Given the description of an element on the screen output the (x, y) to click on. 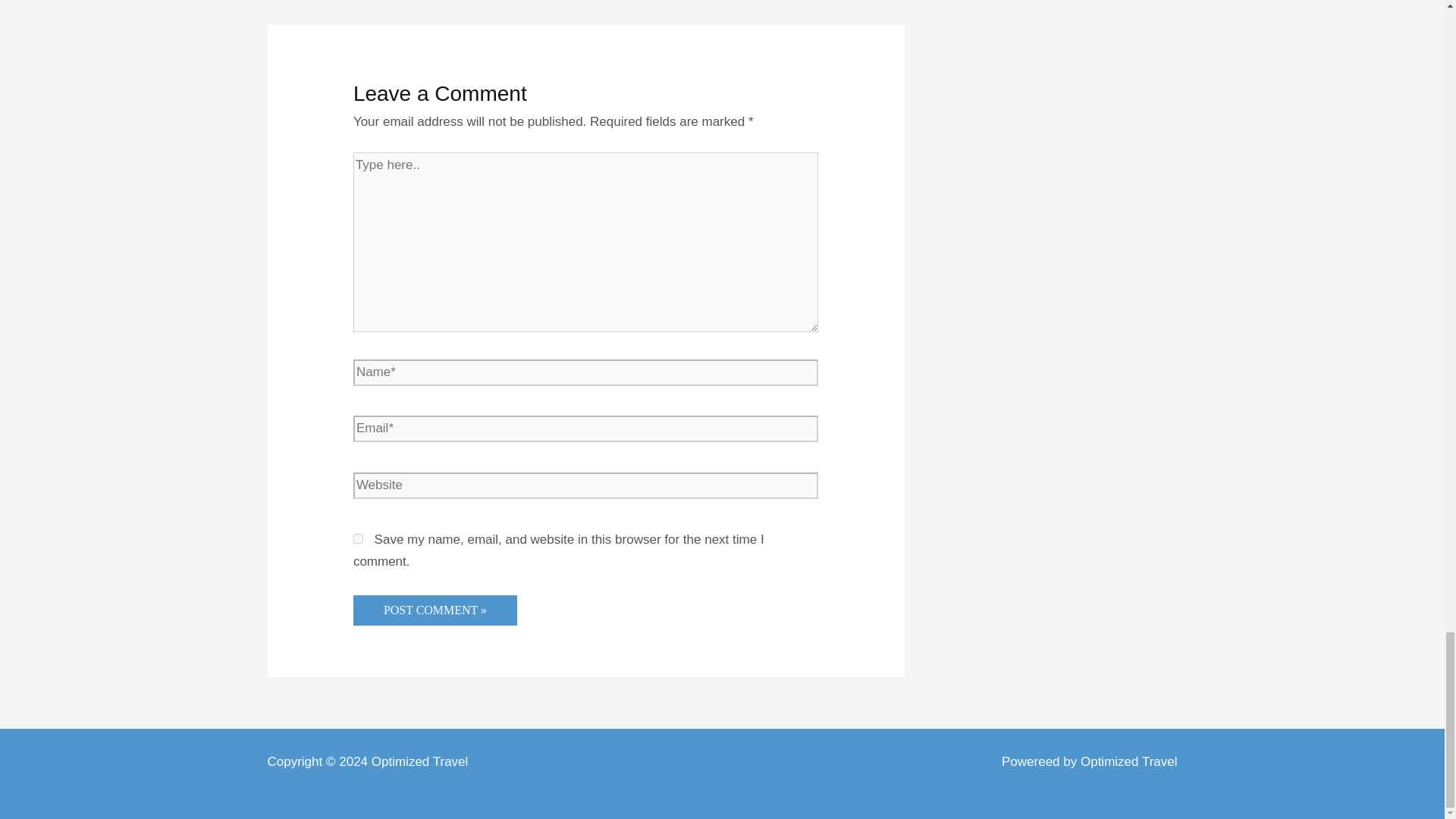
yes (357, 538)
